Given the description of an element on the screen output the (x, y) to click on. 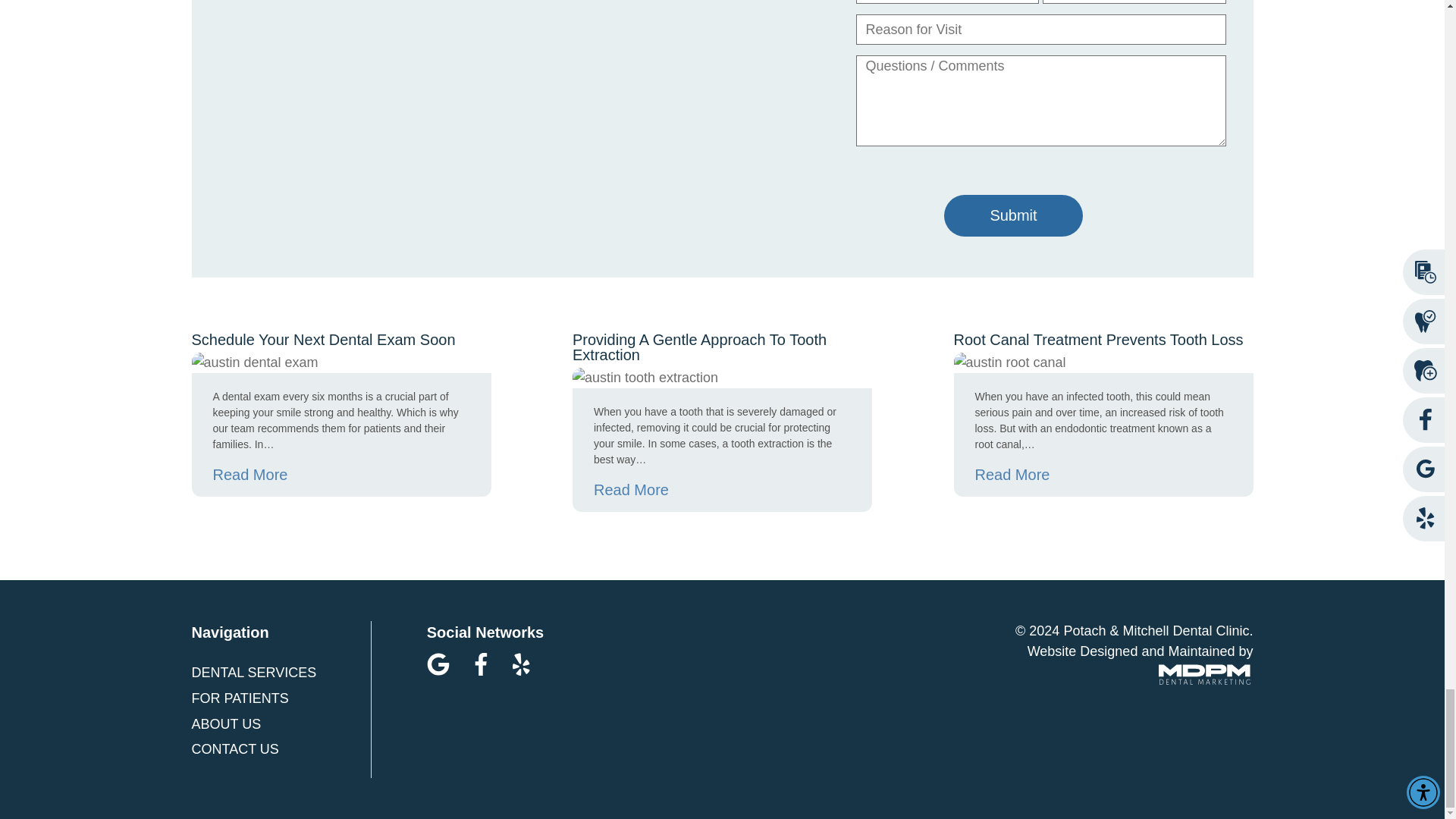
Submit (1012, 215)
